Given the description of an element on the screen output the (x, y) to click on. 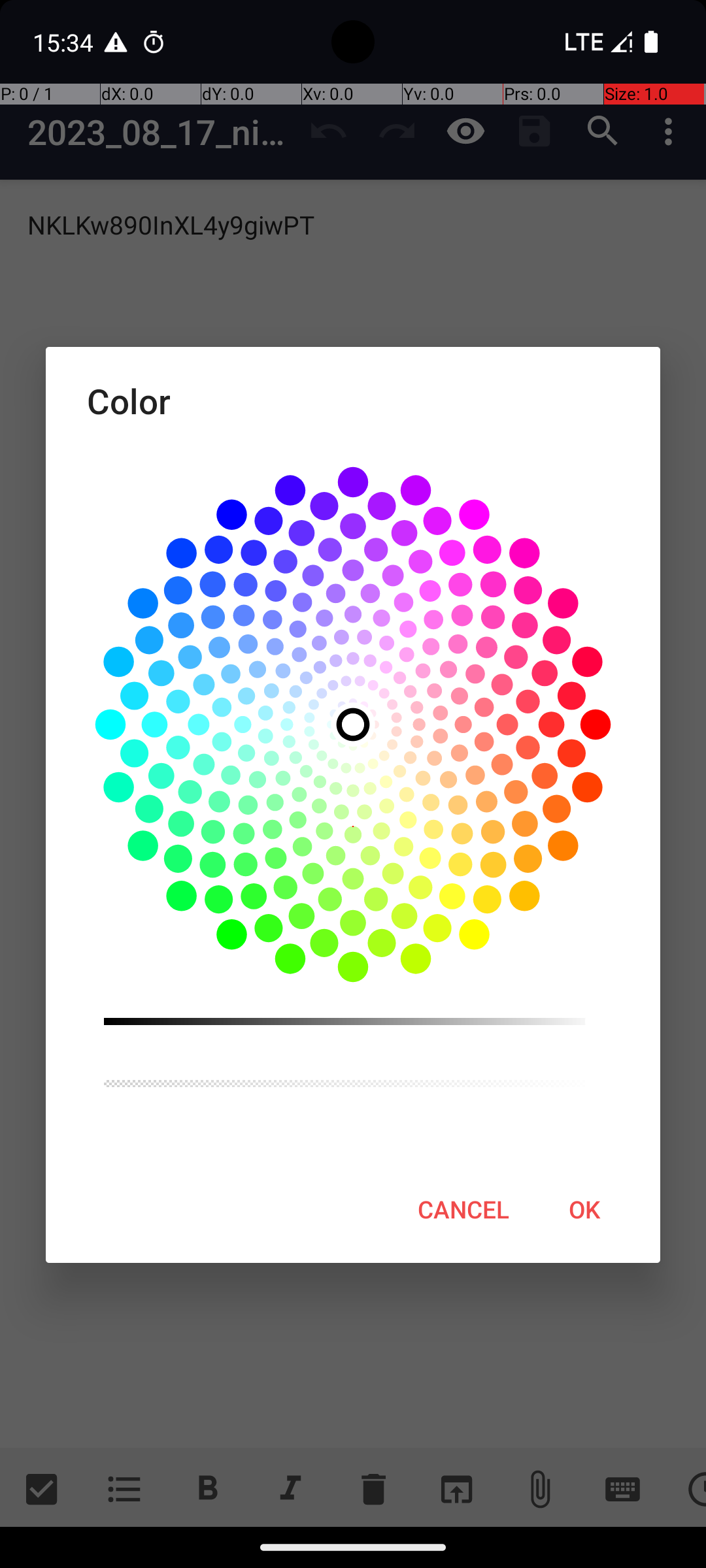
Color Element type: android.widget.TextView (352, 400)
